Given the description of an element on the screen output the (x, y) to click on. 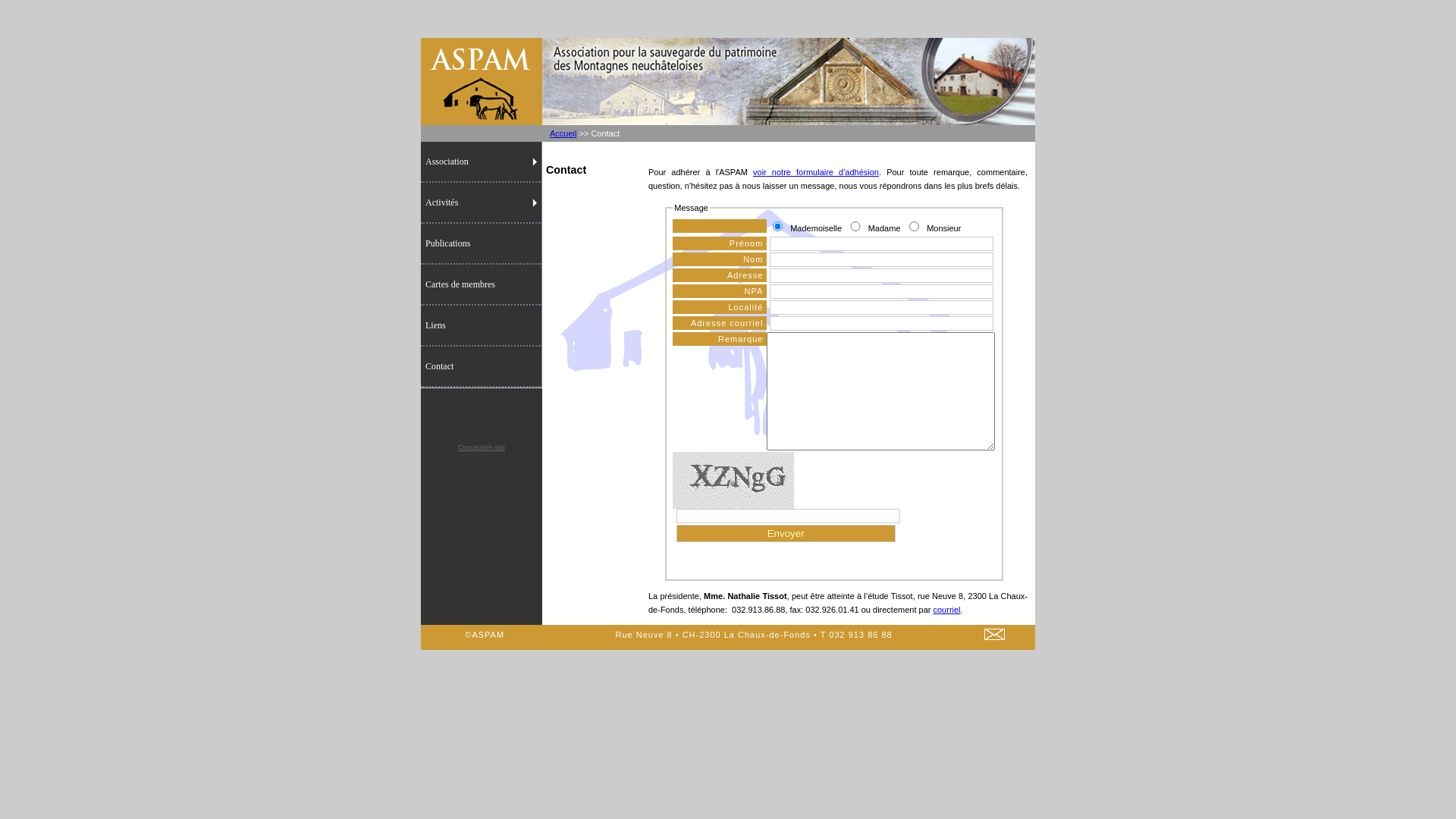
Accueil Element type: text (562, 133)
Envoyer Element type: text (785, 533)
courriel Element type: text (946, 609)
Conception site Element type: text (481, 447)
Contact Element type: text (481, 366)
Association Element type: text (481, 161)
Publications Element type: text (481, 243)
Liens Element type: text (481, 325)
Cartes de membres Element type: text (481, 284)
